Given the description of an element on the screen output the (x, y) to click on. 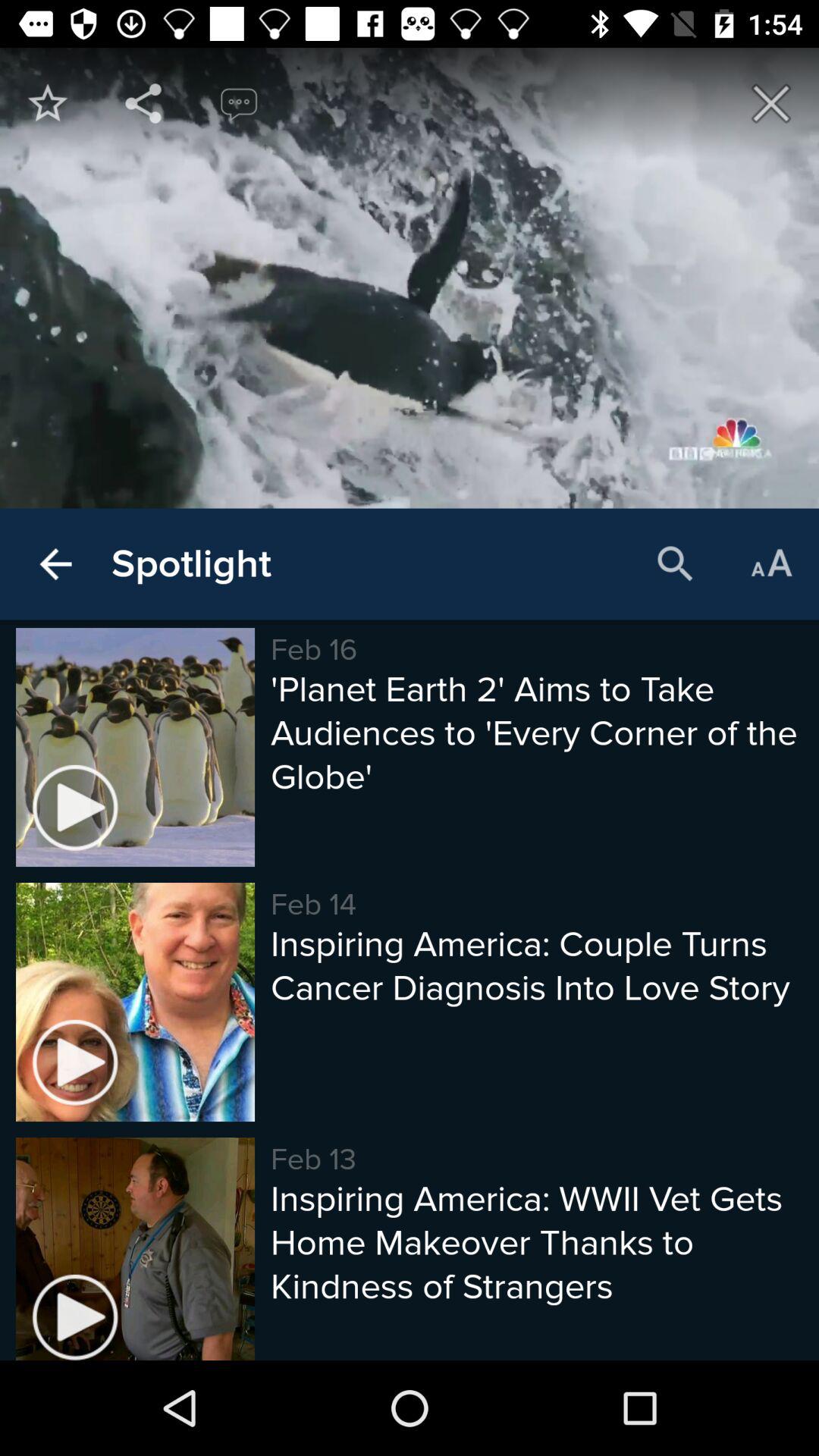
turn on the icon above the planet earth 2 (771, 563)
